Given the description of an element on the screen output the (x, y) to click on. 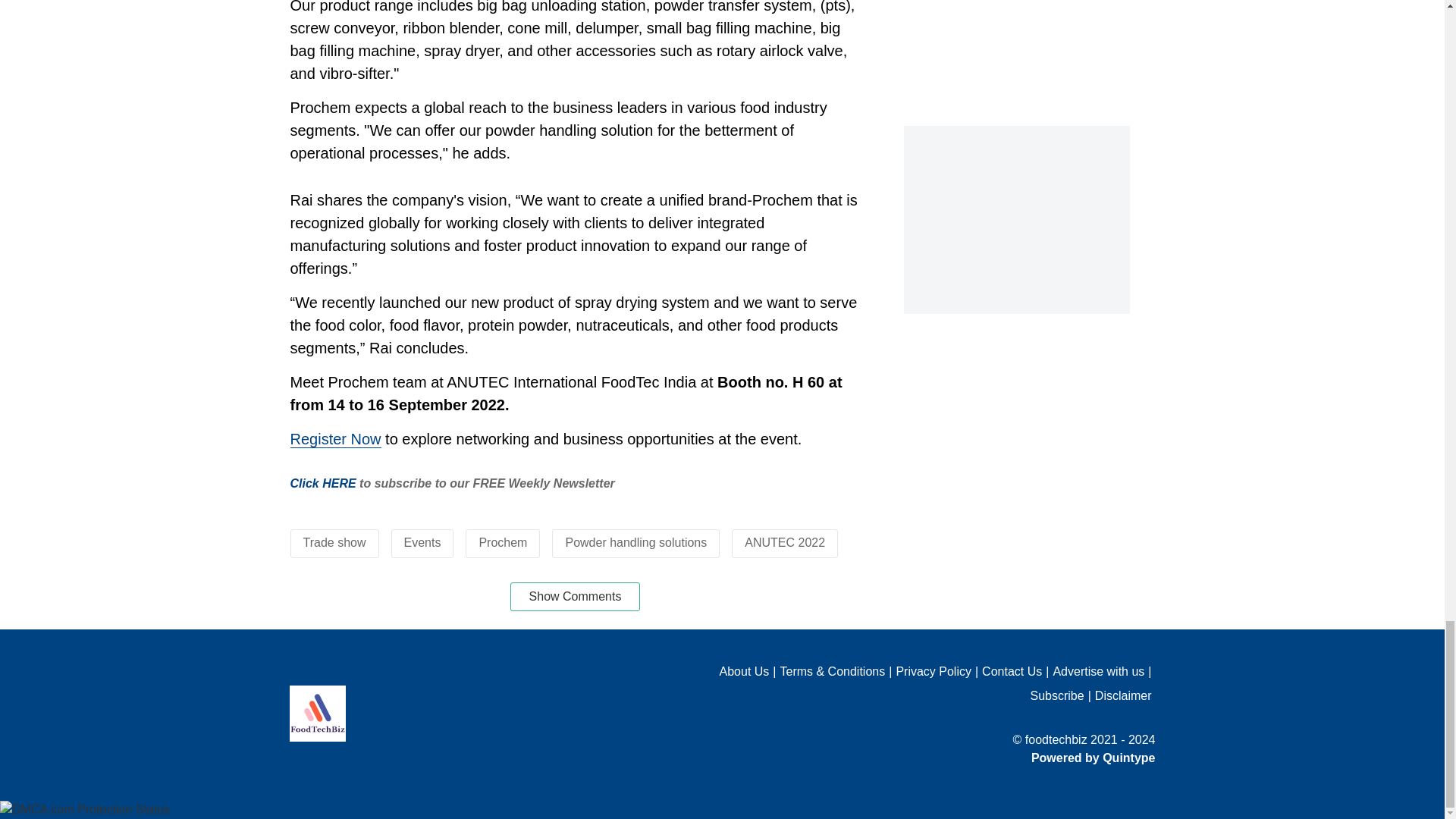
Click HERE (322, 482)
Trade show (334, 542)
Prochem (503, 542)
Events (422, 542)
Register Now (334, 438)
